Given the description of an element on the screen output the (x, y) to click on. 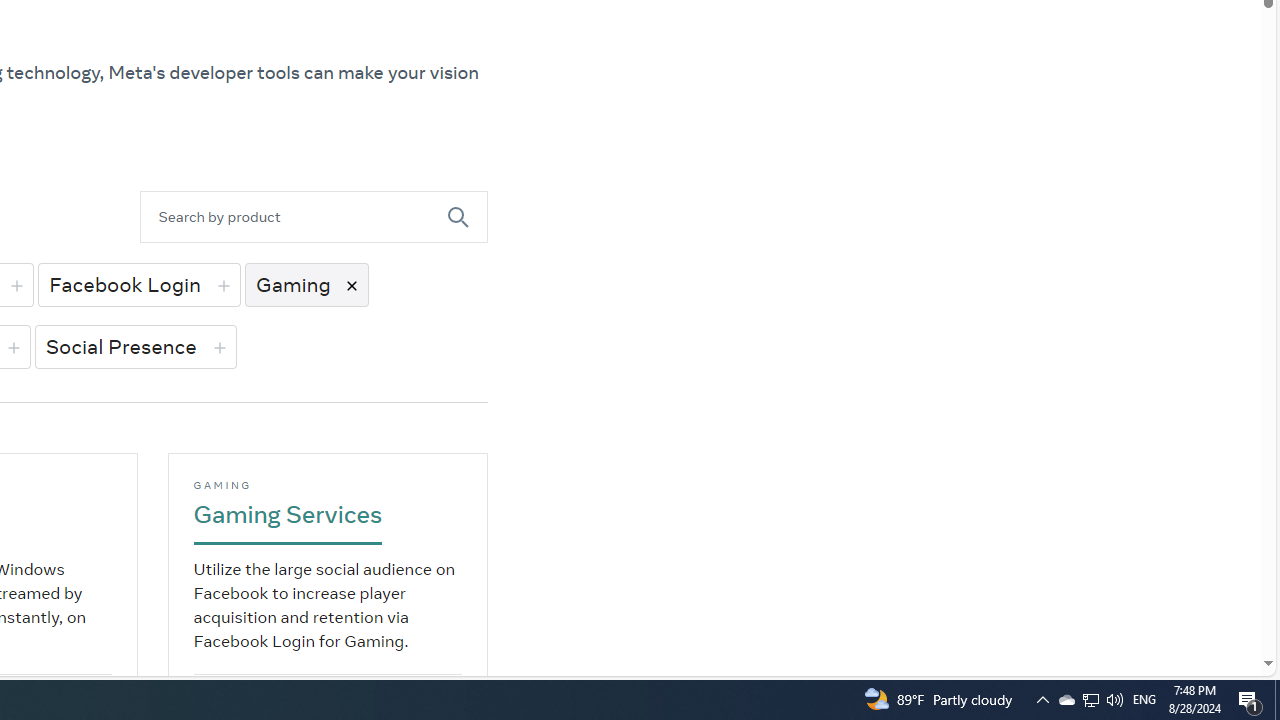
Gaming (306, 284)
Facebook Login (138, 284)
Search by product (293, 216)
Social Presence (135, 346)
